Given the description of an element on the screen output the (x, y) to click on. 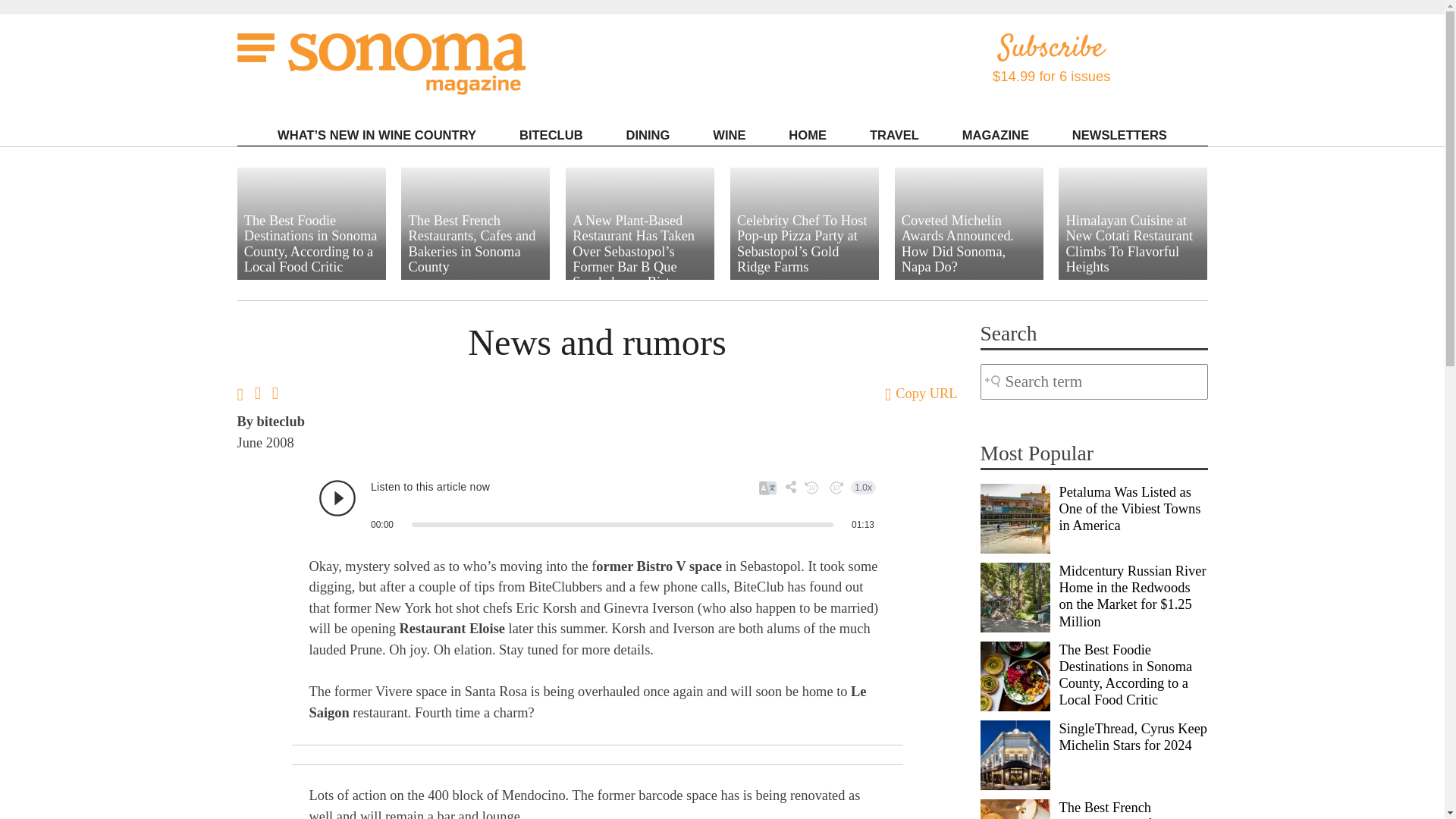
Current Issue (1034, 155)
WINE (729, 134)
HOME (807, 134)
MAGAZINE (994, 134)
DINING (647, 134)
SingleThread, Cyrus Keep Michelin Stars for 2024 (1014, 755)
Petaluma Was Listed as One of the Vibiest Towns in America (1014, 518)
Trinity Audio Player (596, 505)
